Given the description of an element on the screen output the (x, y) to click on. 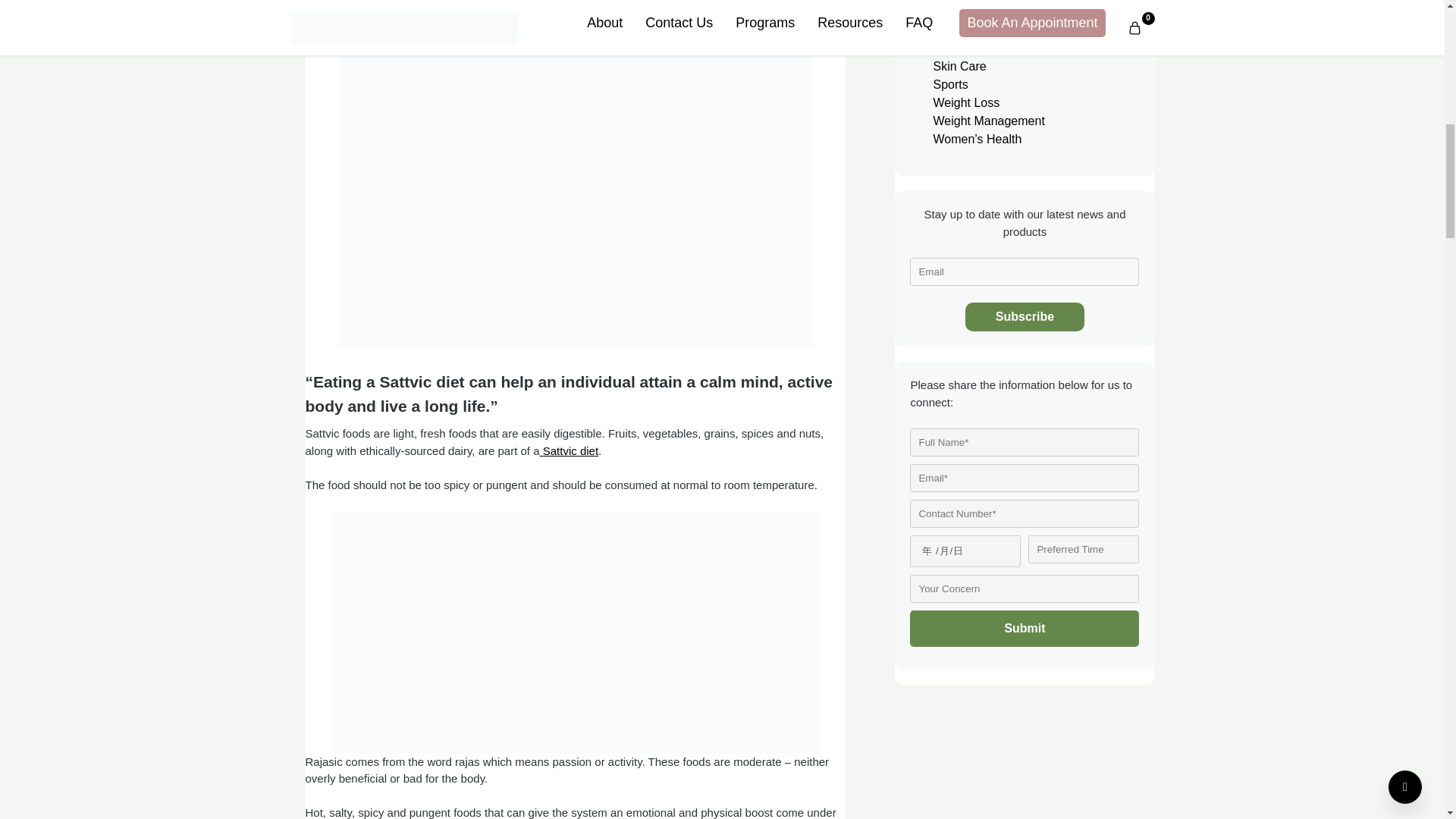
Subscribe (1024, 316)
Sattvic diet (569, 450)
Submit (1024, 627)
